Given the description of an element on the screen output the (x, y) to click on. 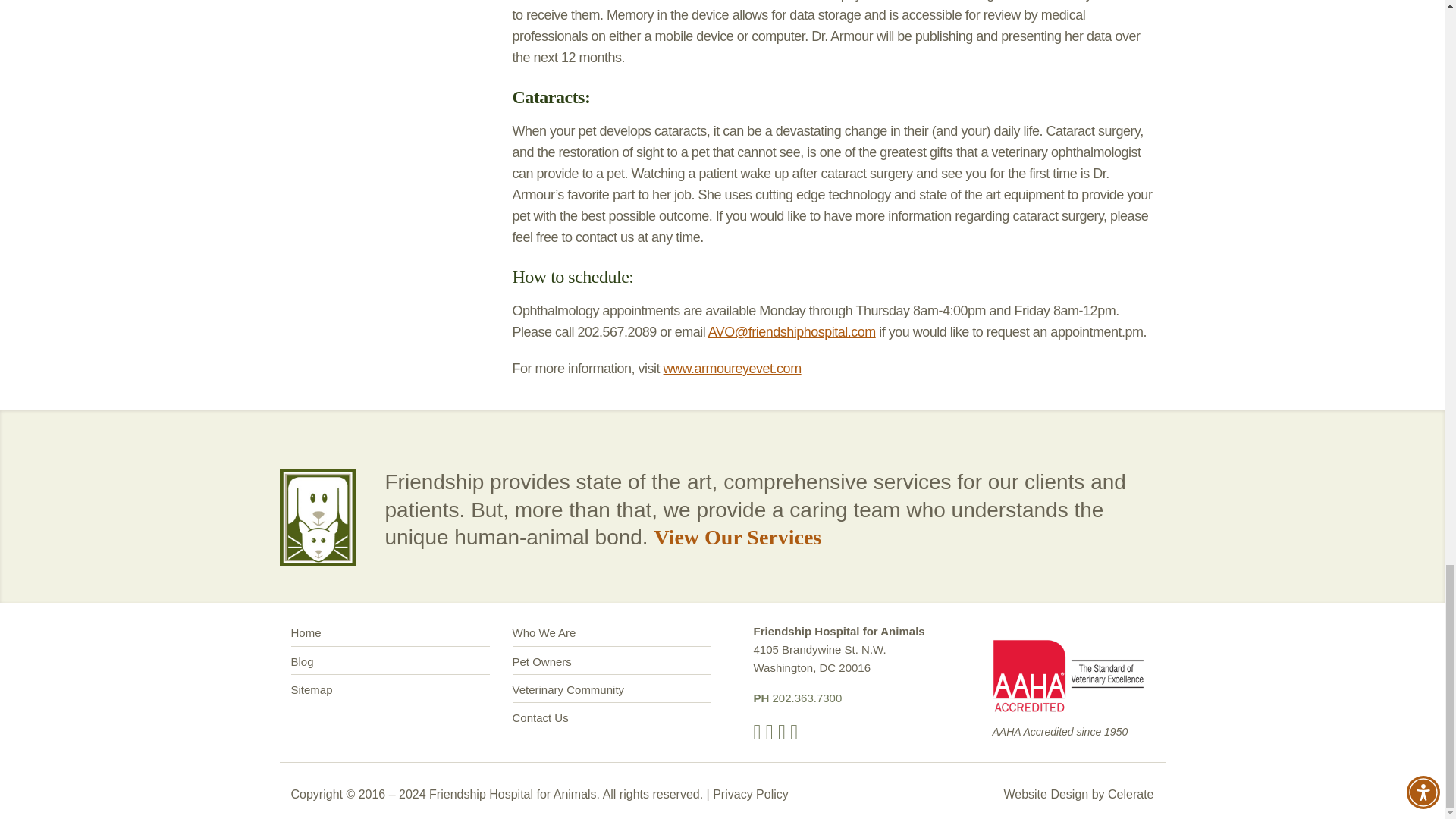
Web design and development (1130, 793)
